Given the description of an element on the screen output the (x, y) to click on. 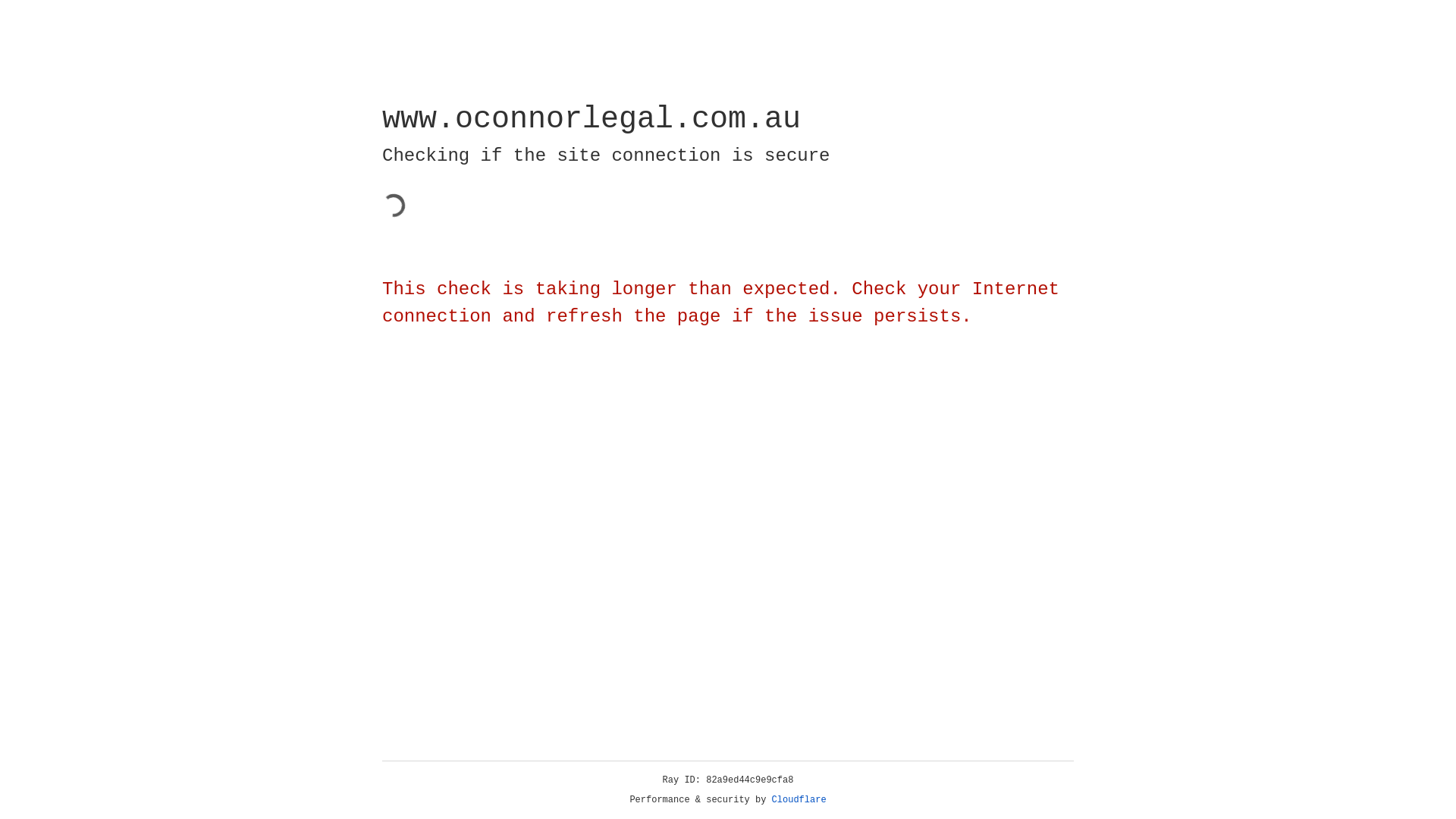
Cloudflare Element type: text (798, 799)
